Given the description of an element on the screen output the (x, y) to click on. 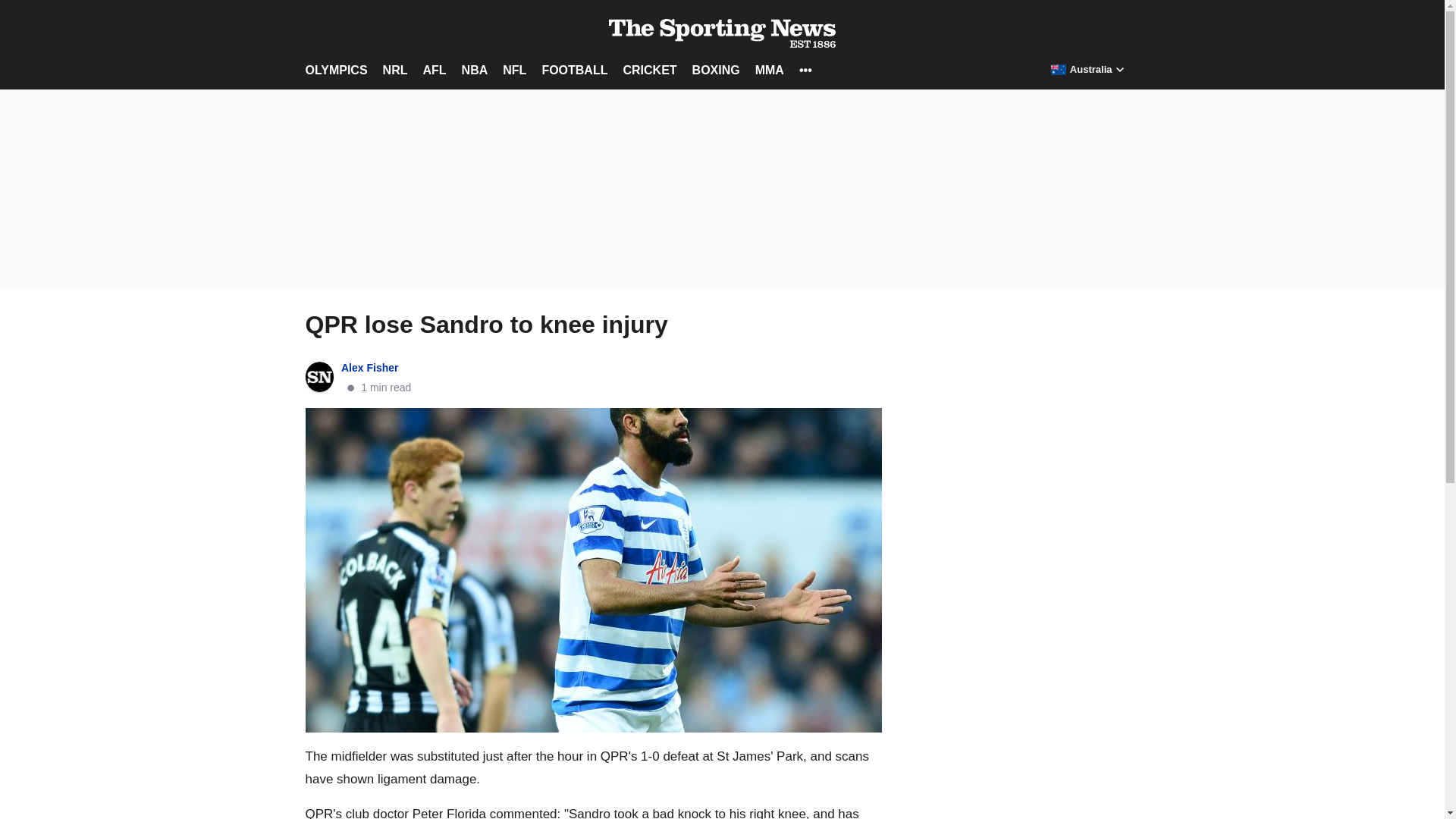
BOXING (716, 70)
FOOTBALL (574, 70)
OLYMPICS (335, 70)
CRICKET (650, 70)
